Given the description of an element on the screen output the (x, y) to click on. 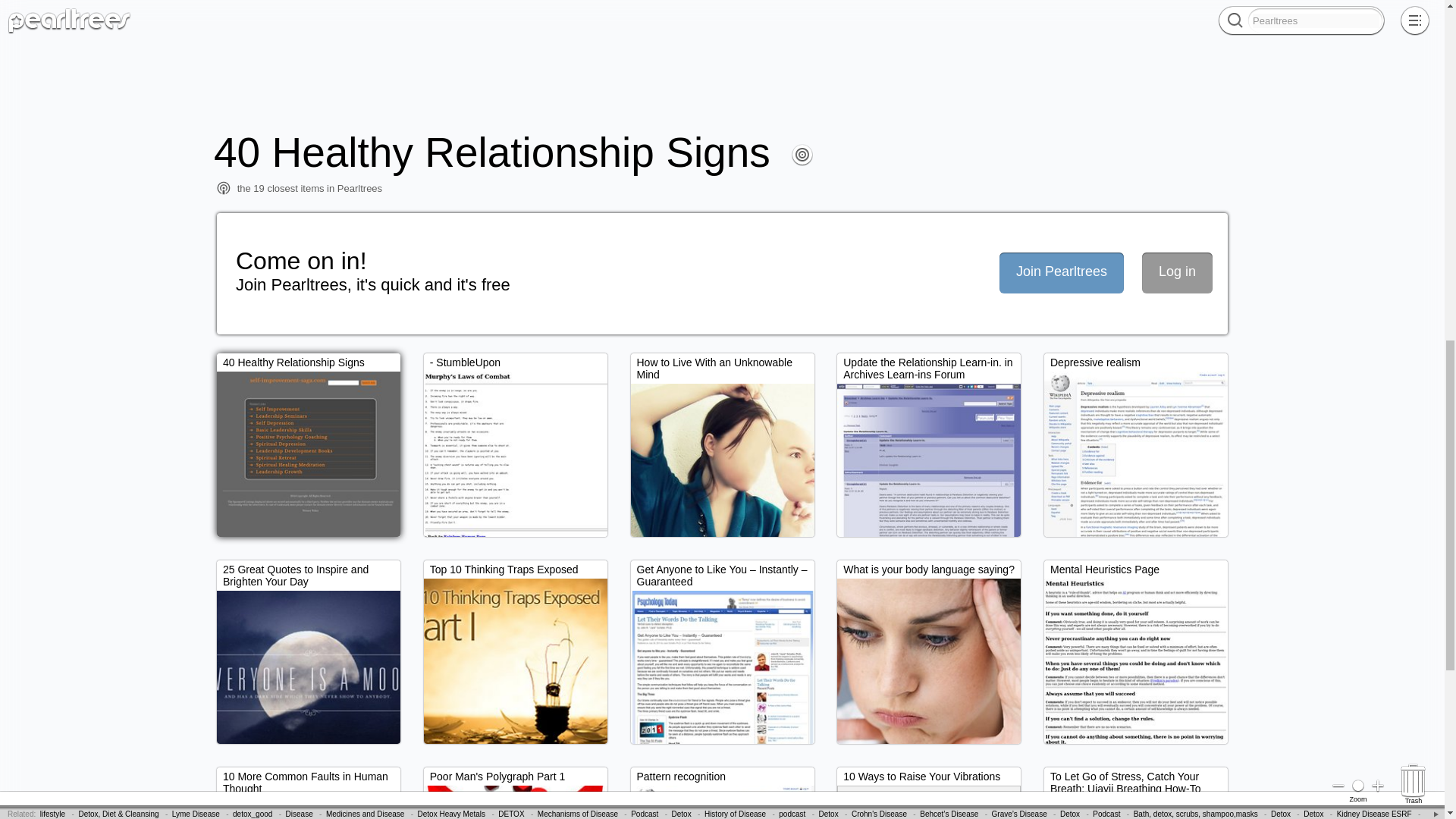
Audacity Wiki (40, 20)
Detox Water Recipess (428, 8)
Inflammatory Bowel Disease, Crohn's, Colitis, and IBS (218, 8)
Disease (101, 8)
Sociological Images (807, 8)
The BRAD BLOG (508, 8)
Biol 1406- Biology I Interactive Tutorials (1008, 8)
Crohn's Disease (349, 8)
Everyday Sociology Blog (118, 20)
Infectious Disease (42, 8)
iTunes - Podcasts - Apple (1131, 8)
